Given the description of an element on the screen output the (x, y) to click on. 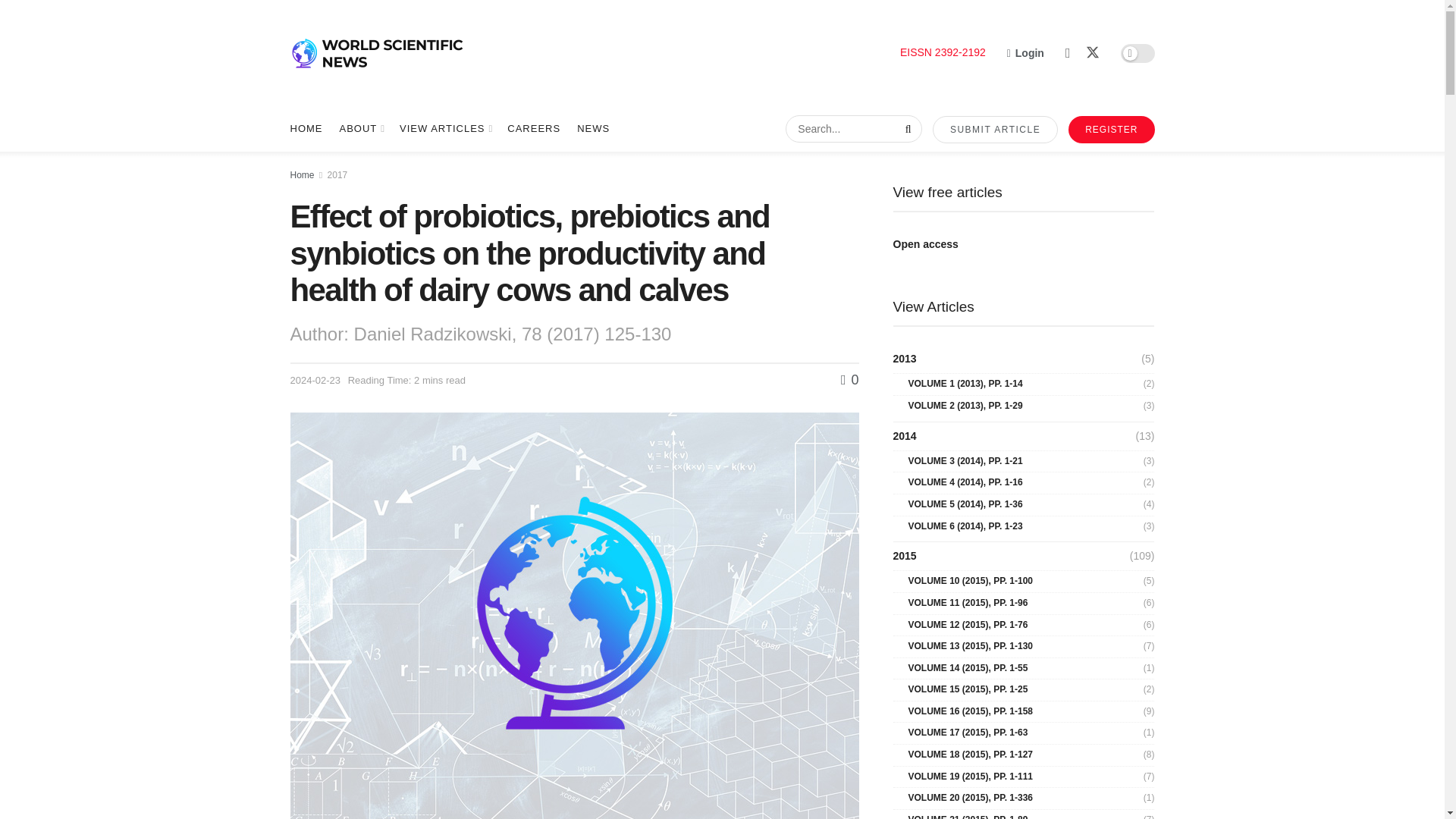
CAREERS (533, 128)
REGISTER (1111, 129)
VIEW ARTICLES (444, 128)
SUBMIT ARTICLE (995, 129)
ABOUT (361, 128)
Login (1025, 53)
EISSN 2392-2192 (942, 51)
